Given the description of an element on the screen output the (x, y) to click on. 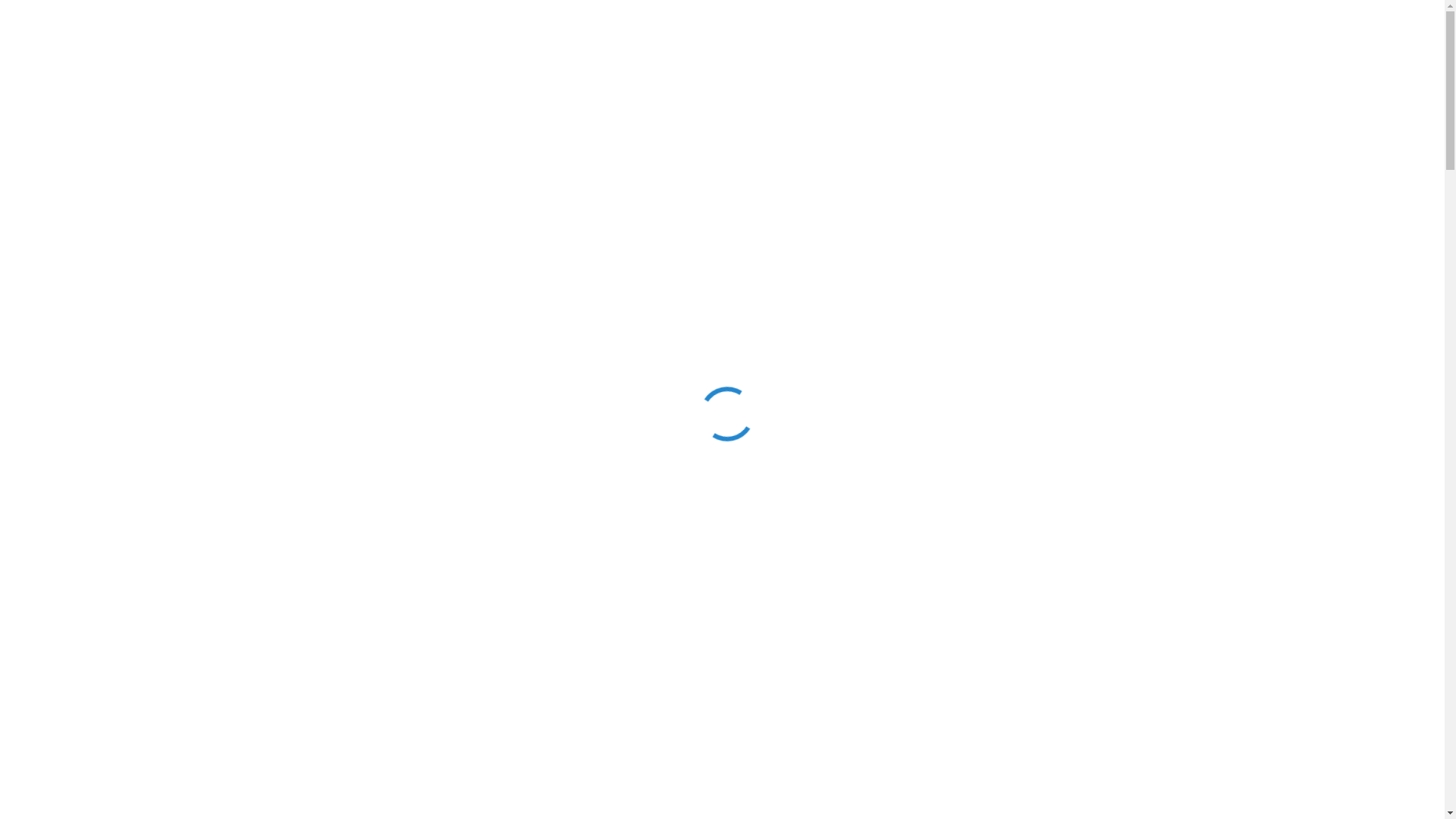
Suche Element type: text (718, 140)
Veranstaltungen  Element type: text (243, 99)
Suche Element type: text (718, 101)
Ausstellungen  Element type: text (356, 138)
Bibliothek  Element type: text (141, 99)
Veranstaltungen  Element type: text (243, 138)
Bibliothek  Element type: text (141, 138)
Publikationen  Element type: text (565, 138)
Wissenschaft  Element type: text (461, 138)
Ausstellungen  Element type: text (356, 99)
Publikationen  Element type: text (565, 99)
Wissenschaft  Element type: text (461, 99)
